Given the description of an element on the screen output the (x, y) to click on. 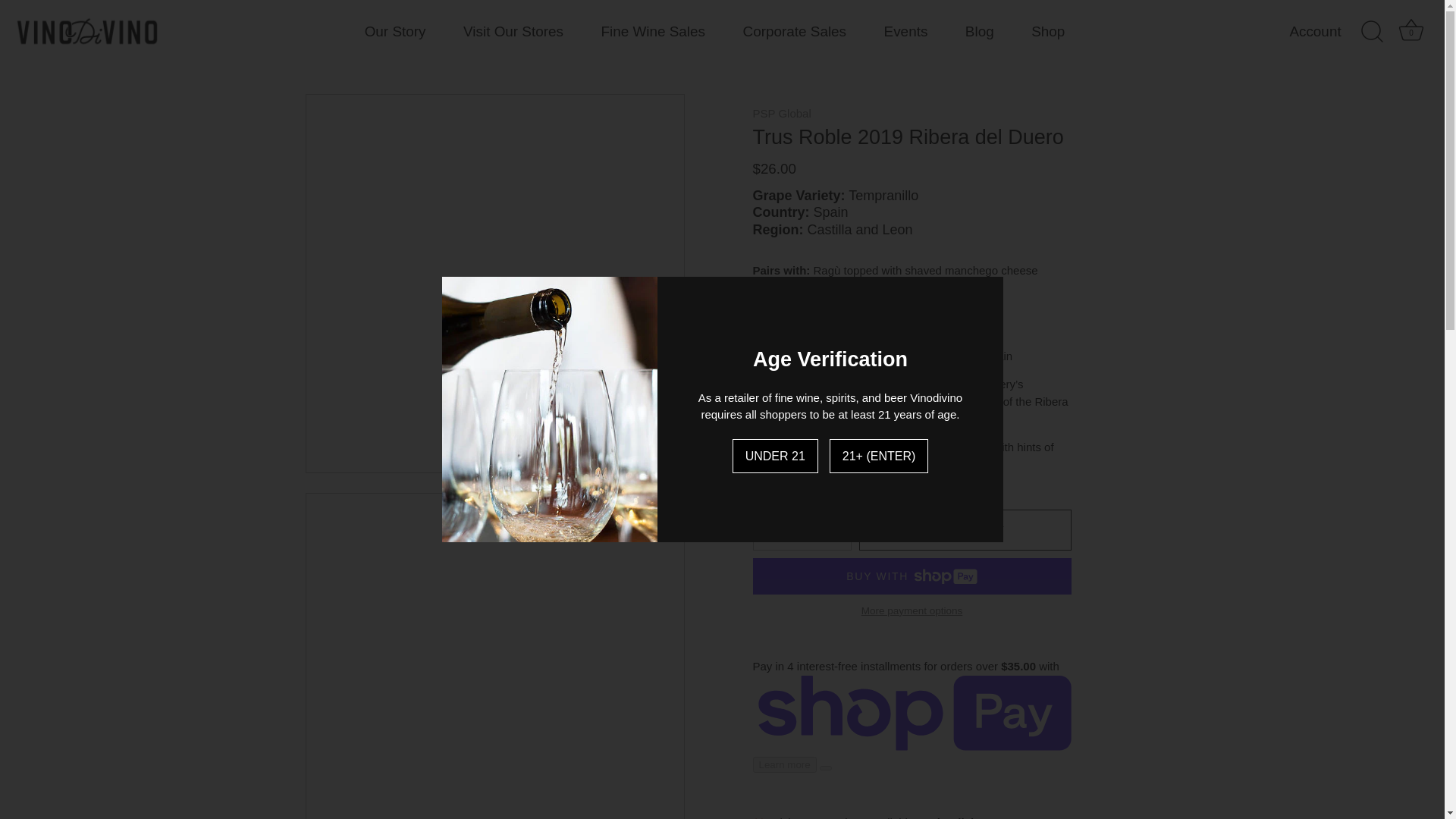
Blog (978, 30)
More payment options (911, 611)
Our Story (394, 30)
Visit Our Stores (512, 30)
Fine Wine Sales (652, 30)
Account (1327, 31)
Corporate Sales (794, 30)
PSP Global (781, 113)
ADD TO CART (1411, 31)
UNDER 21 (964, 529)
Events (775, 455)
Basket (905, 30)
Shop (1410, 30)
